Given the description of an element on the screen output the (x, y) to click on. 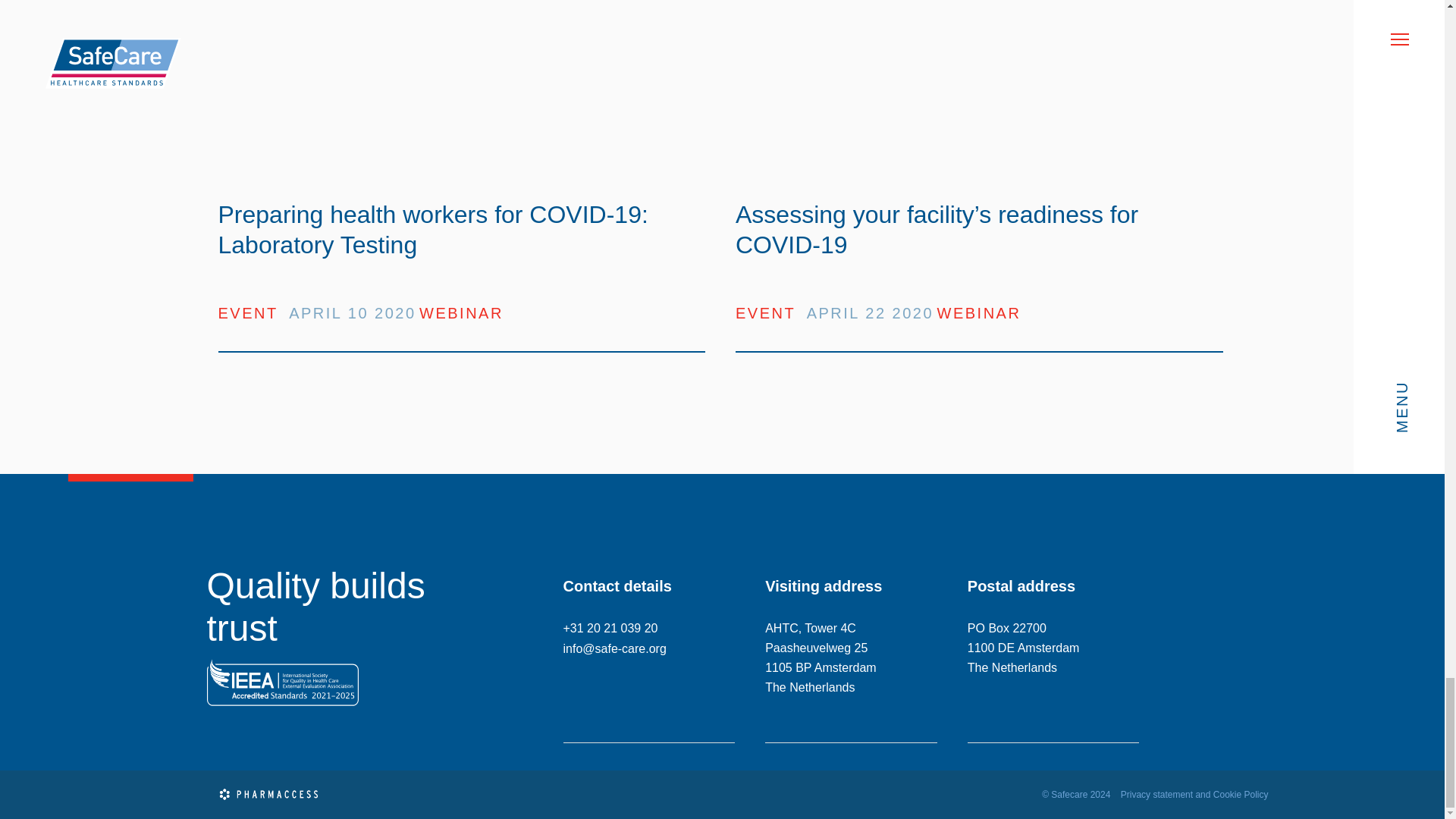
Privacy statement and Cookie Policy (1194, 794)
